Given the description of an element on the screen output the (x, y) to click on. 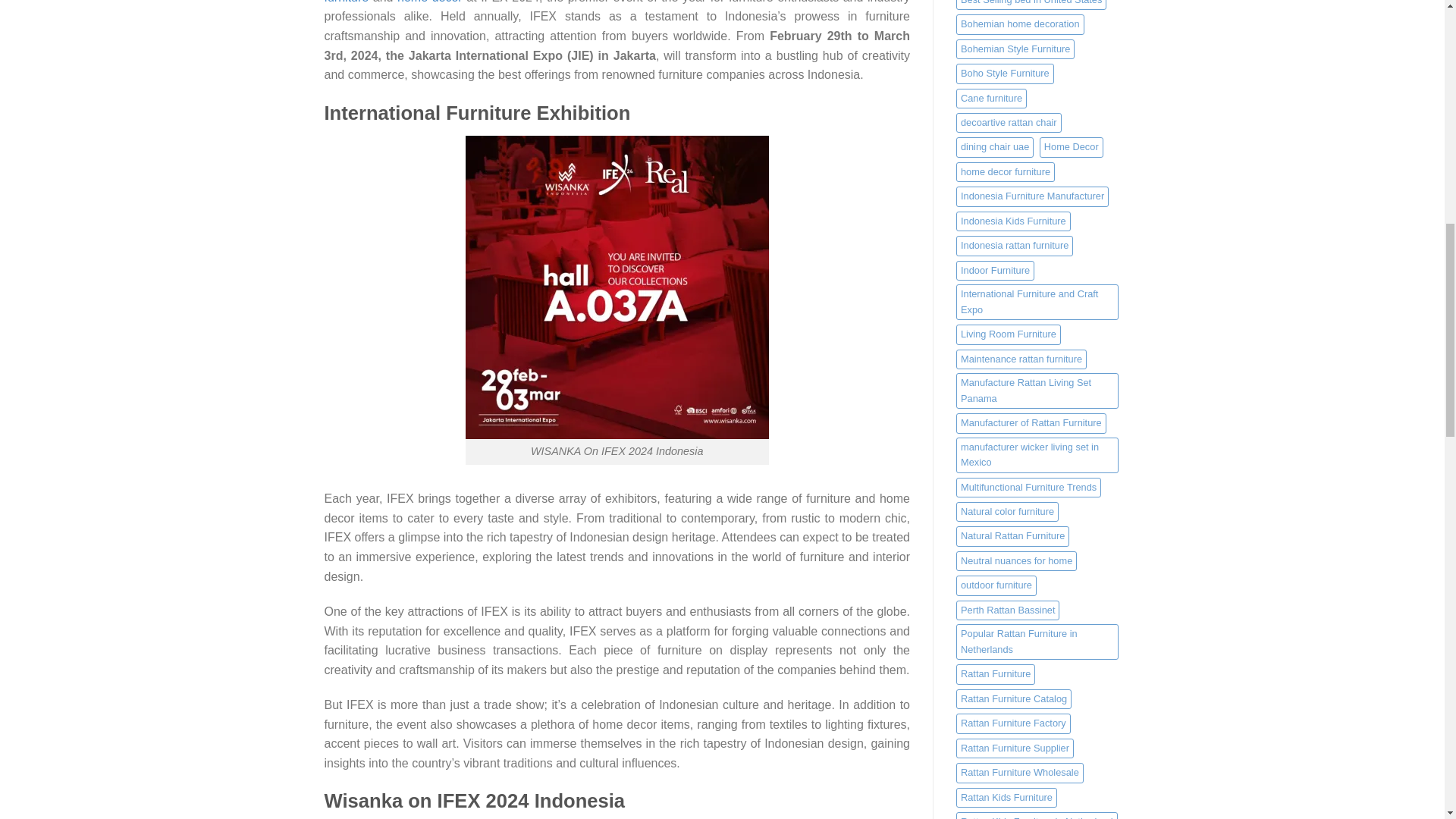
home decor (430, 2)
